Given the description of an element on the screen output the (x, y) to click on. 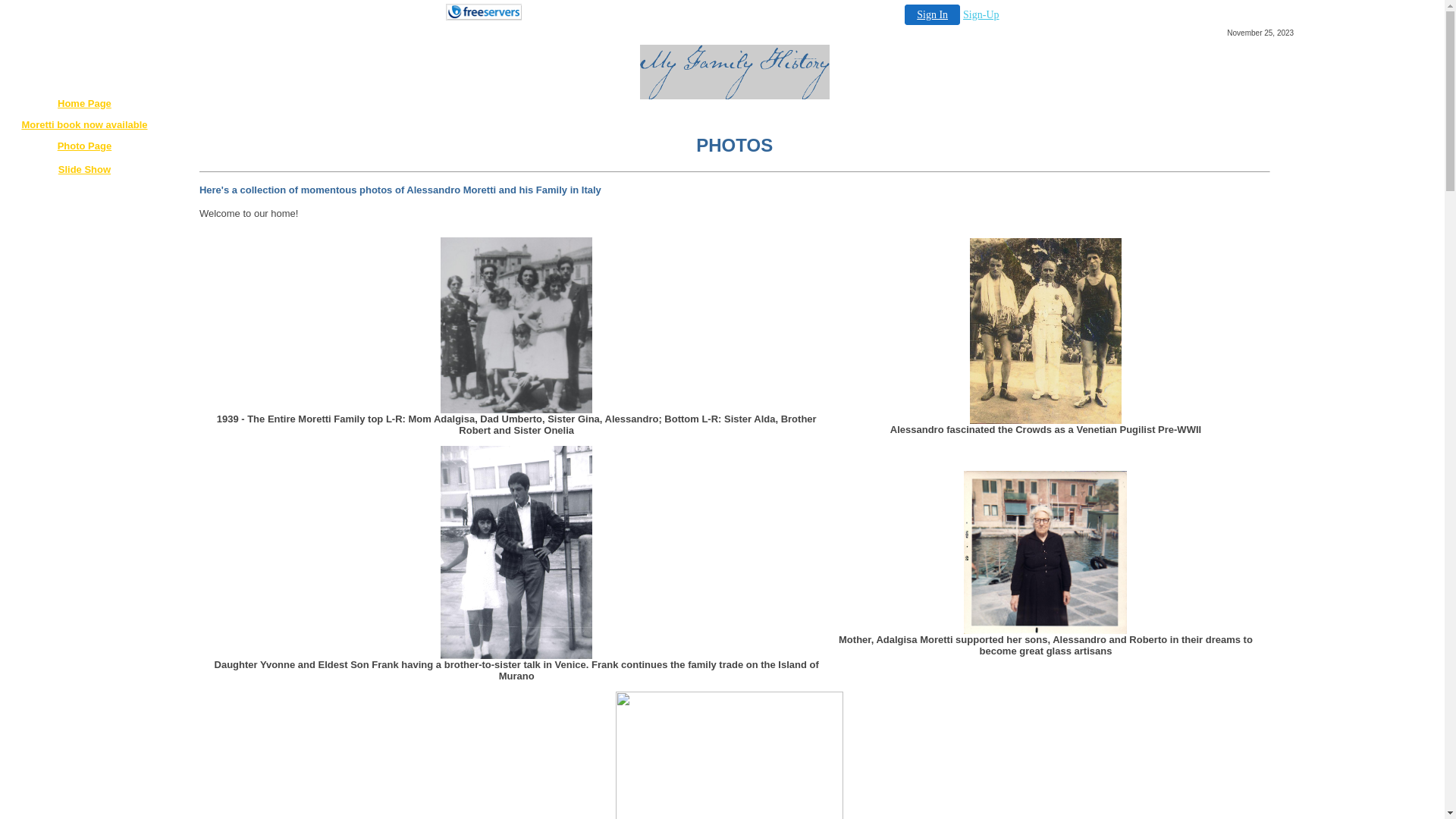
Sign In Element type: text (932, 14)
Photo Page Element type: text (84, 145)
Sign-Up Element type: text (980, 14)
Slide Show Element type: text (84, 169)
Home Page Element type: text (84, 103)
Moretti book now available Element type: text (84, 124)
